Given the description of an element on the screen output the (x, y) to click on. 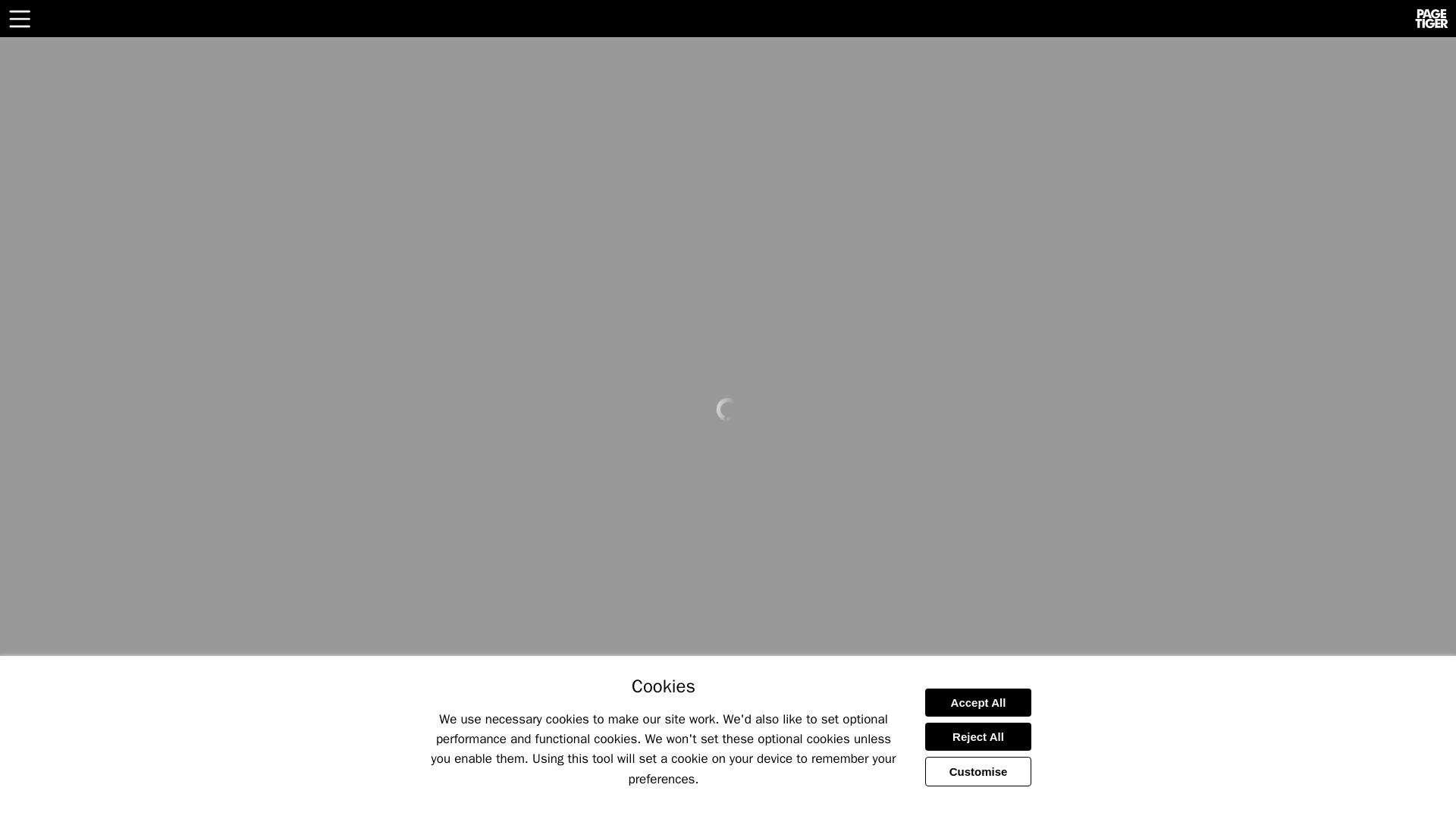
Accept All (977, 702)
Reject All (977, 736)
Toolbar Items (19, 17)
Powered by PageTiger (1431, 18)
Customise (977, 771)
